Given the description of an element on the screen output the (x, y) to click on. 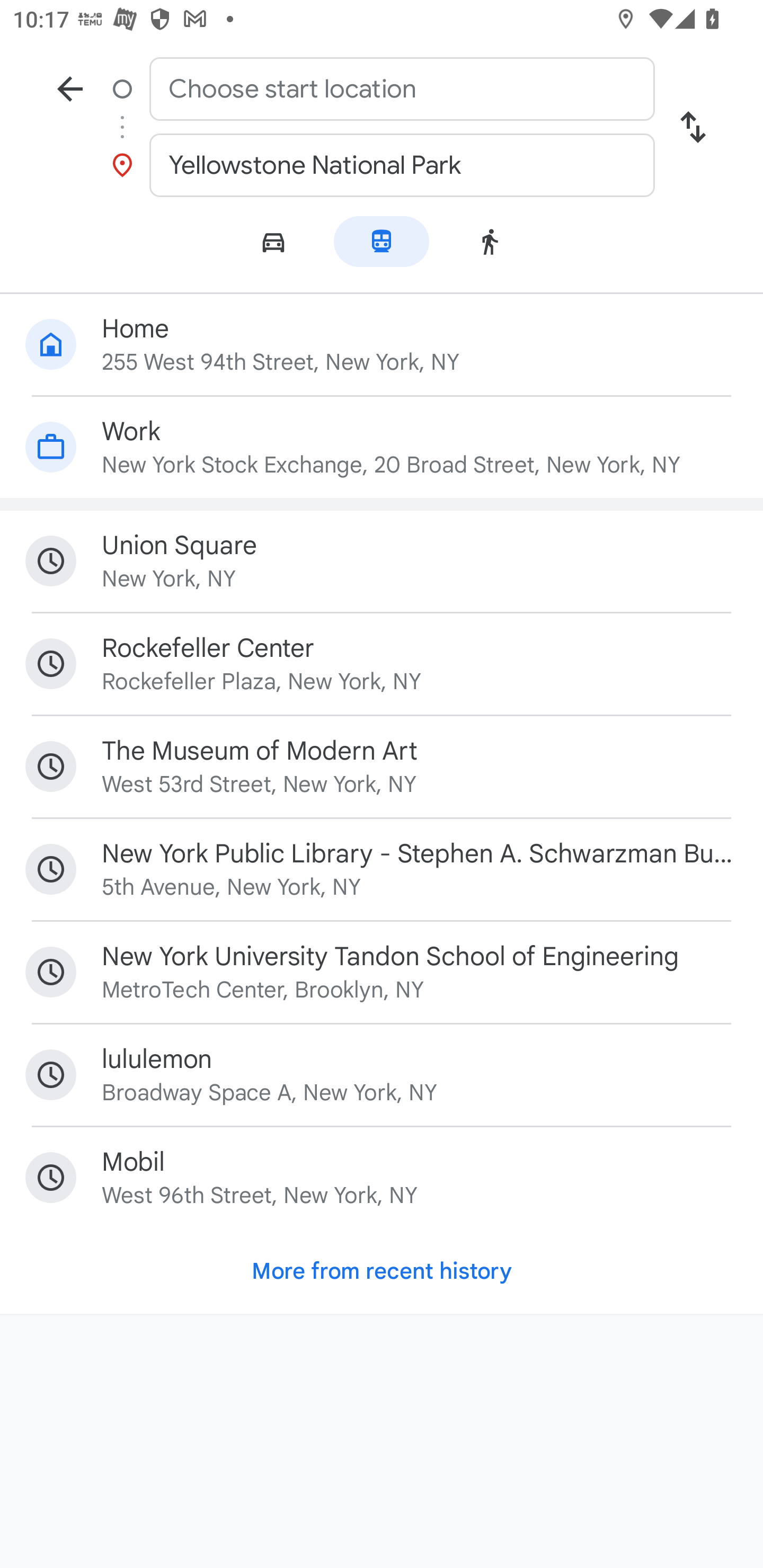
Navigate up (70, 88)
Choose start location (381, 88)
Swap start and destination (692, 126)
Driving mode:  (265, 244)
Walking mode:  (497, 244)
Home 255 West 94th Street, New York, NY (381, 344)
Union Square New York, NY (381, 561)
Rockefeller Center Rockefeller Plaza, New York, NY (381, 664)
lululemon Broadway Space A, New York, NY (381, 1074)
Mobil West 96th Street, New York, NY (381, 1177)
More from recent history (381, 1270)
